Given the description of an element on the screen output the (x, y) to click on. 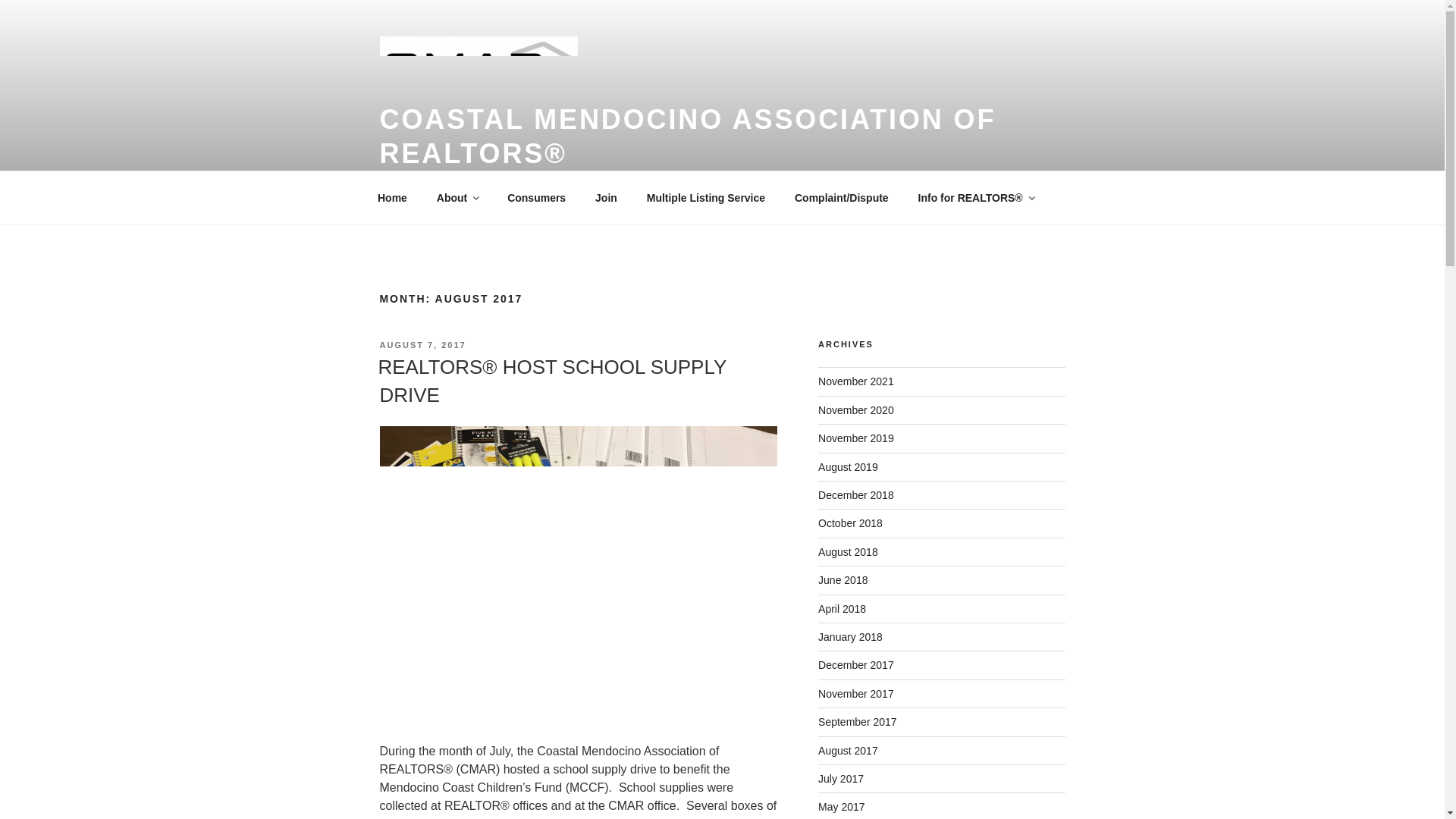
October 2018 (850, 522)
November 2020 (855, 410)
August 2018 (847, 551)
July 2017 (840, 778)
December 2018 (855, 494)
November 2017 (855, 693)
May 2017 (841, 806)
August 2017 (847, 750)
Home (392, 197)
January 2018 (850, 636)
